Given the description of an element on the screen output the (x, y) to click on. 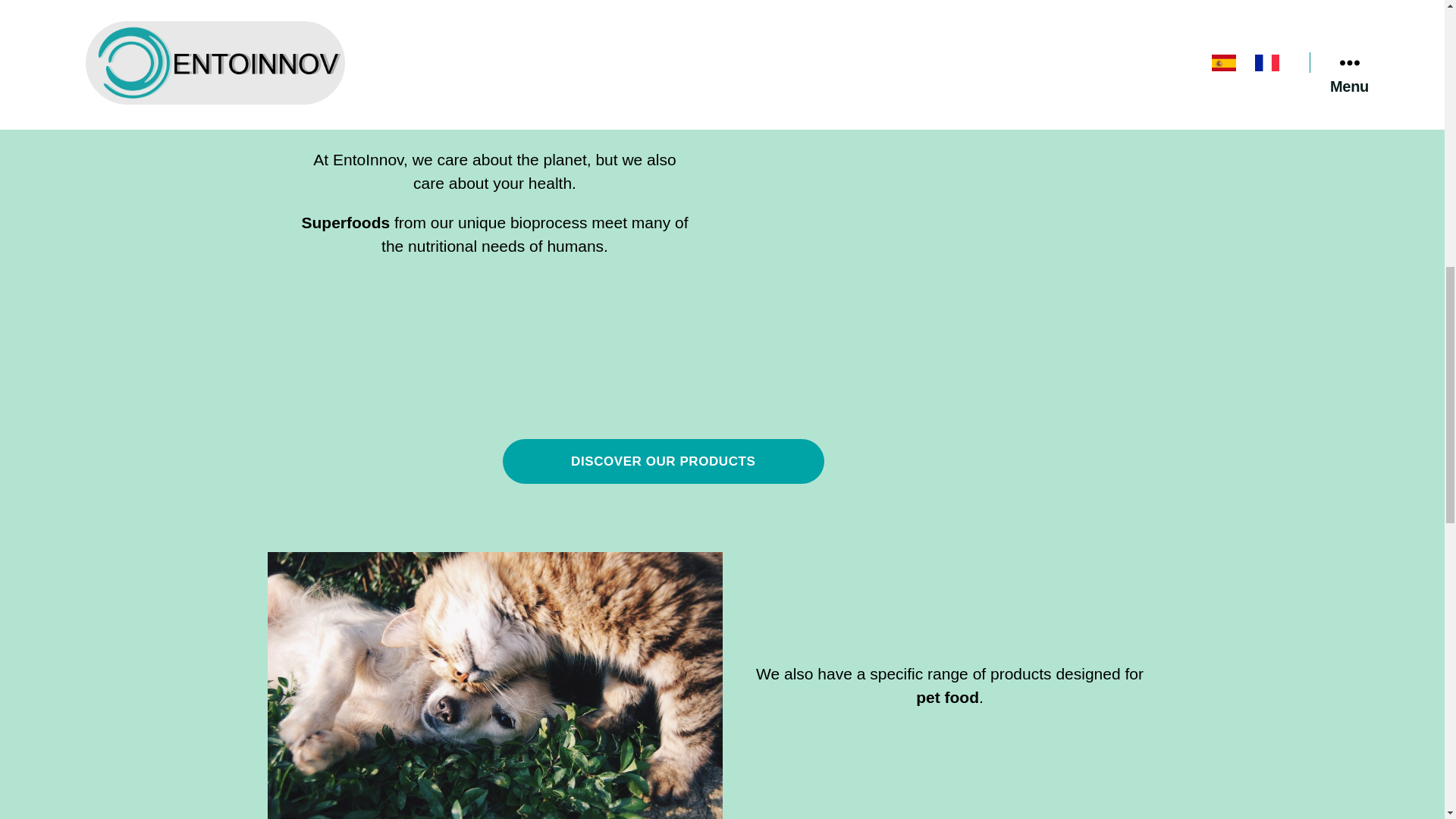
DISCOVER OUR PRODUCTS (663, 461)
